Given the description of an element on the screen output the (x, y) to click on. 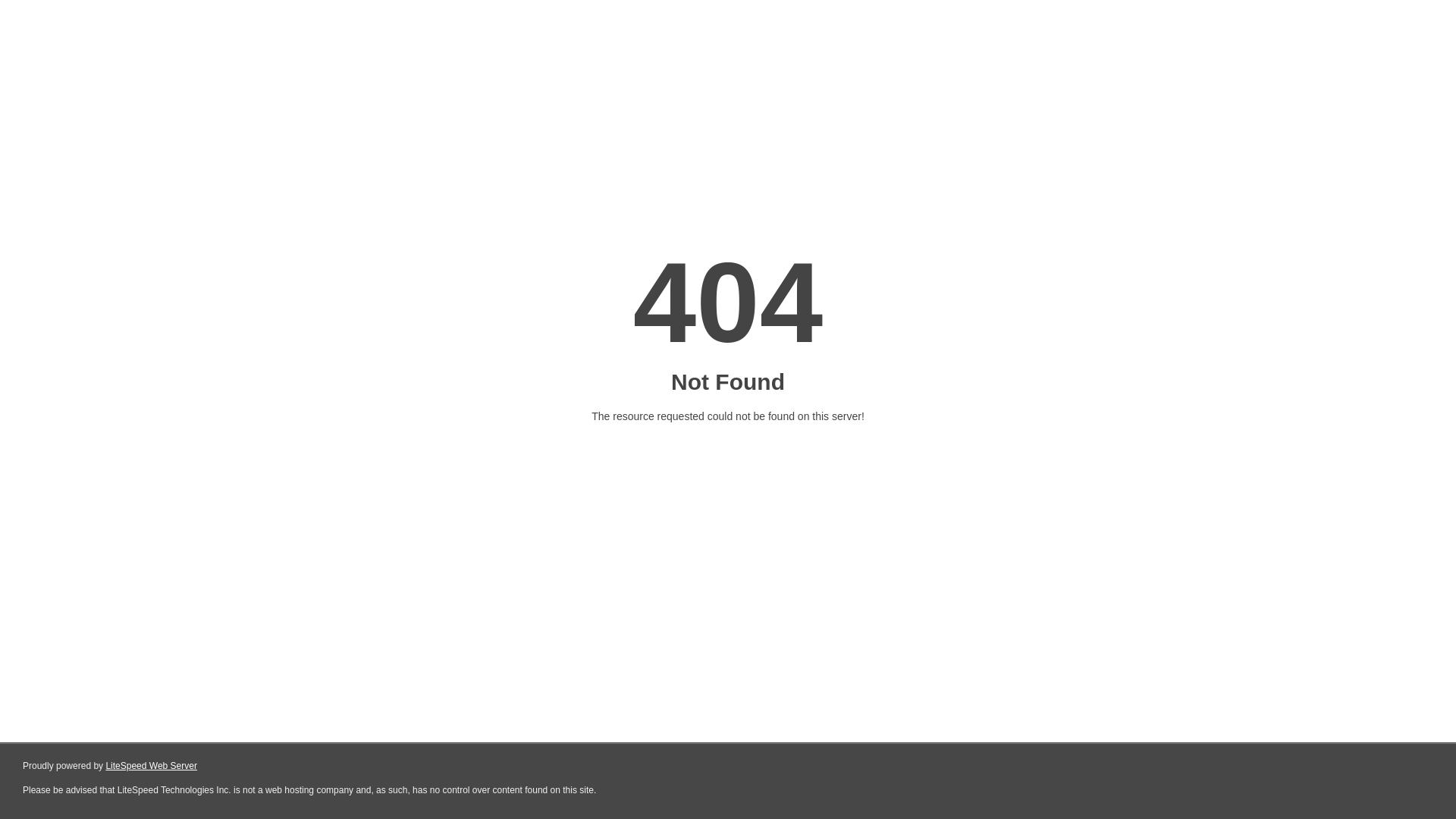
LiteSpeed Web Server Element type: text (151, 765)
